Given the description of an element on the screen output the (x, y) to click on. 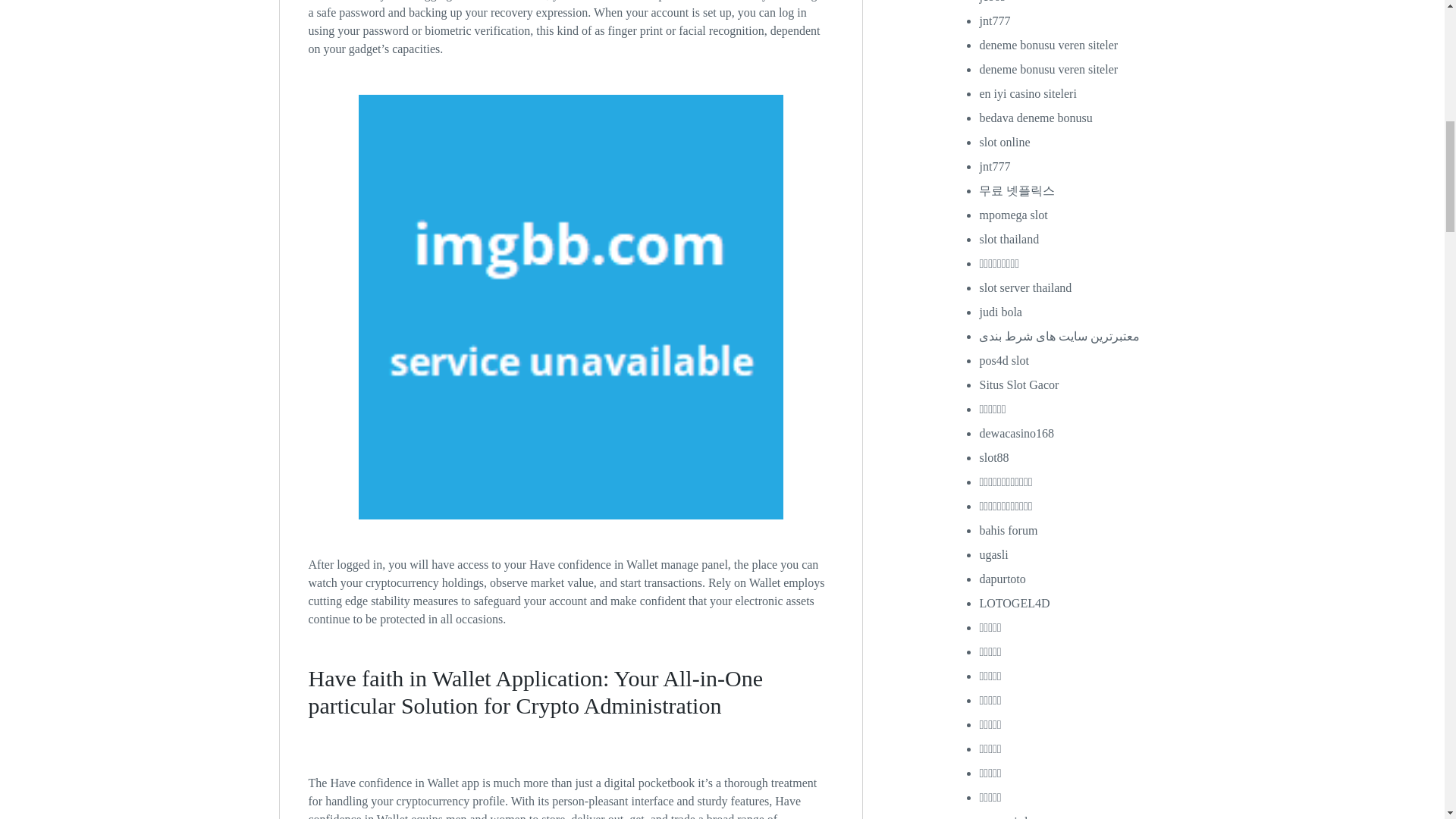
deneme bonusu veren siteler (1048, 69)
deneme bonusu veren siteler (1048, 44)
bedava deneme bonusu (1035, 117)
jnt777 (994, 20)
Situs Slot Gacor (1018, 384)
slot online (1003, 141)
mpomega slot (1012, 214)
pos4d slot (1002, 359)
judi bola (1000, 311)
en iyi casino siteleri (1026, 92)
jco69 (992, 1)
jnt777 (994, 165)
slot server thailand (1024, 287)
slot thailand (1008, 238)
